Given the description of an element on the screen output the (x, y) to click on. 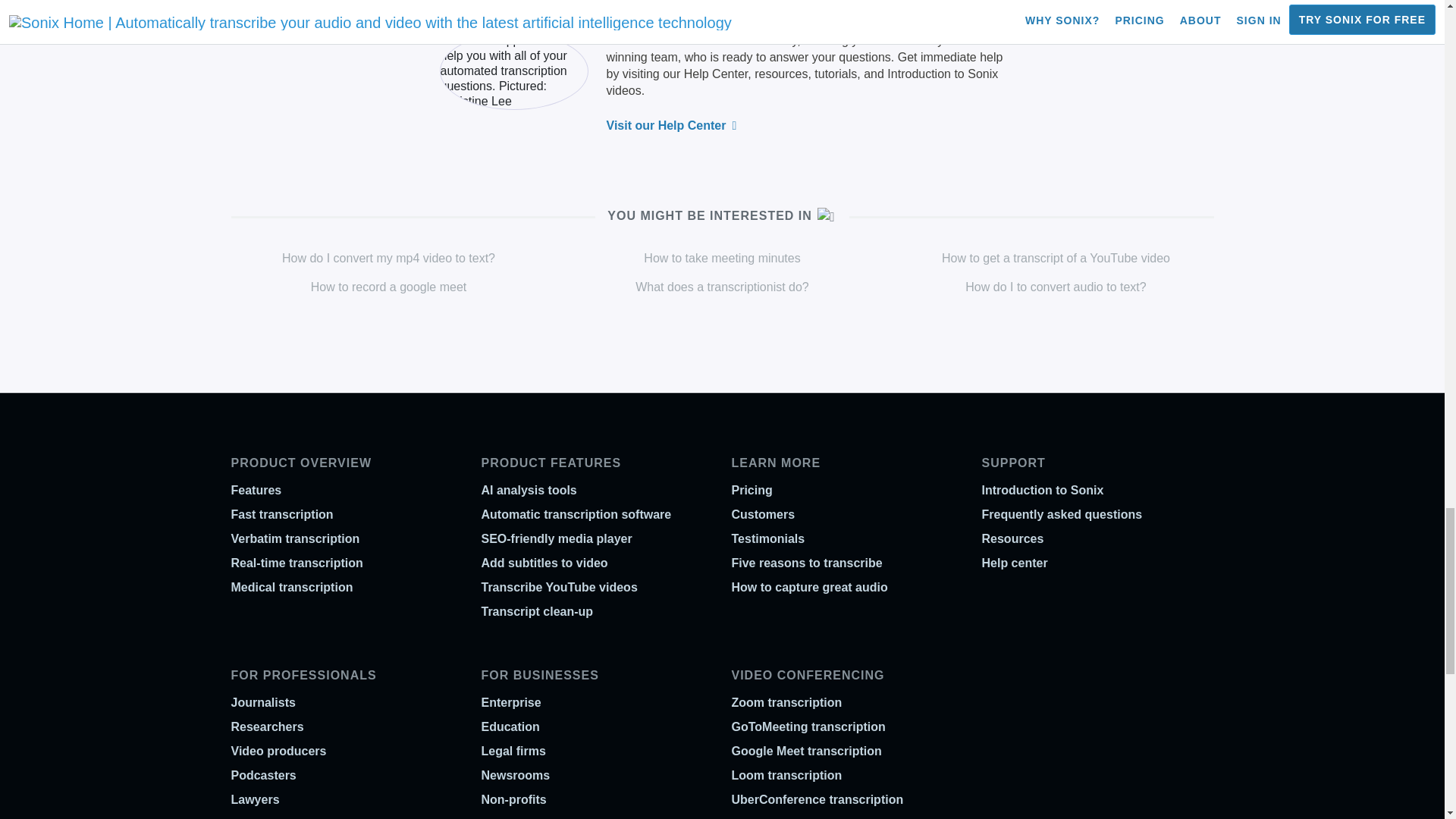
How to get a transcript of a YouTube video (1056, 257)
Visit our Help Center (672, 124)
Features (255, 490)
Fast transcription (281, 513)
How to take meeting minutes (721, 257)
Help Center (716, 73)
Automatic transcription software (575, 513)
Medical transcription (291, 586)
SEO-friendly media player (555, 538)
How to record a google meet (388, 286)
